Given the description of an element on the screen output the (x, y) to click on. 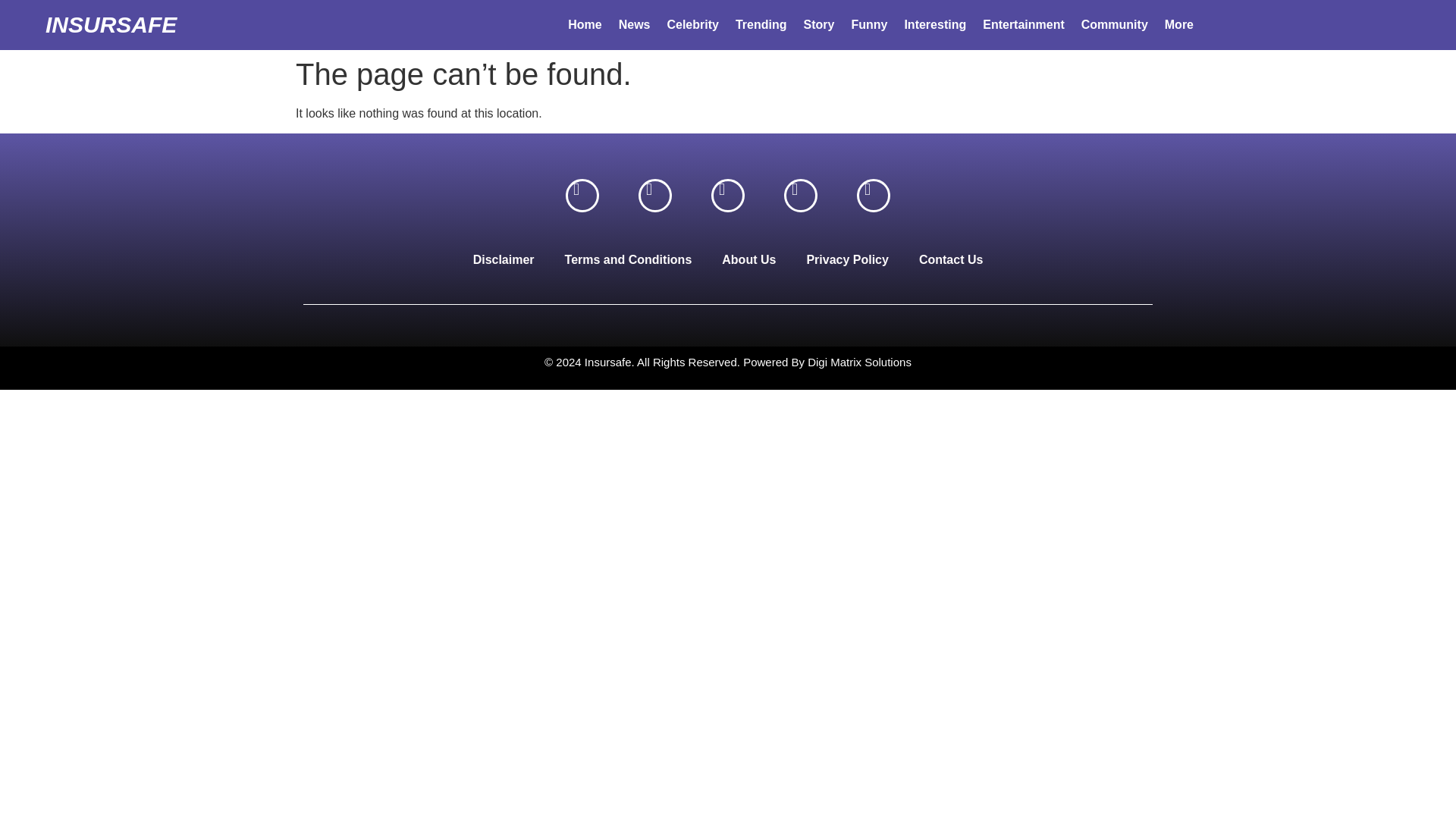
About Us (748, 259)
Contact Us (950, 259)
Disclaimer (504, 259)
More (1179, 24)
News (634, 24)
Interesting (934, 24)
Community (1114, 24)
Privacy Policy (847, 259)
Celebrity (692, 24)
Home (584, 24)
